Given the description of an element on the screen output the (x, y) to click on. 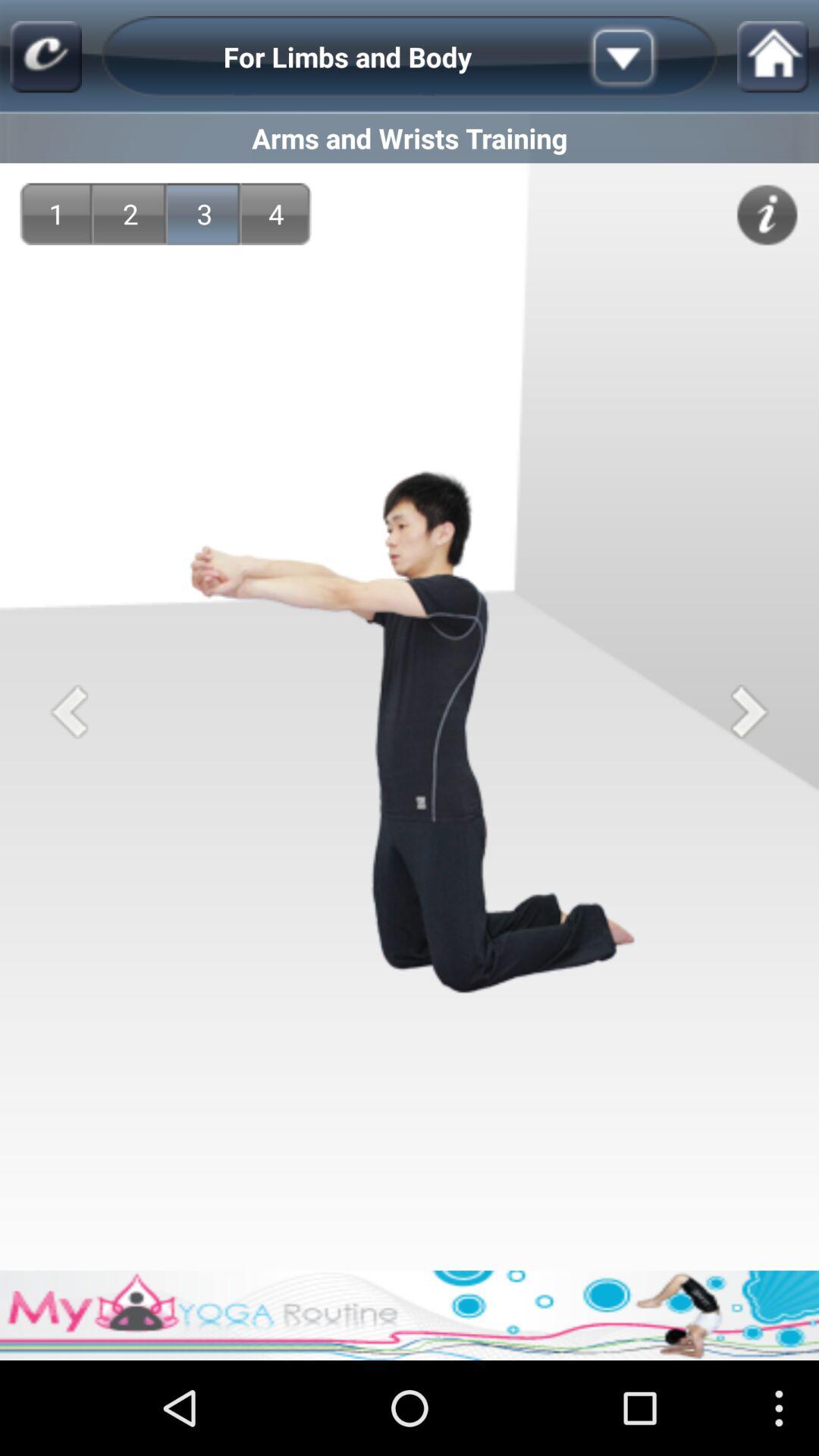
turn on item next to the 1 (130, 214)
